Given the description of an element on the screen output the (x, y) to click on. 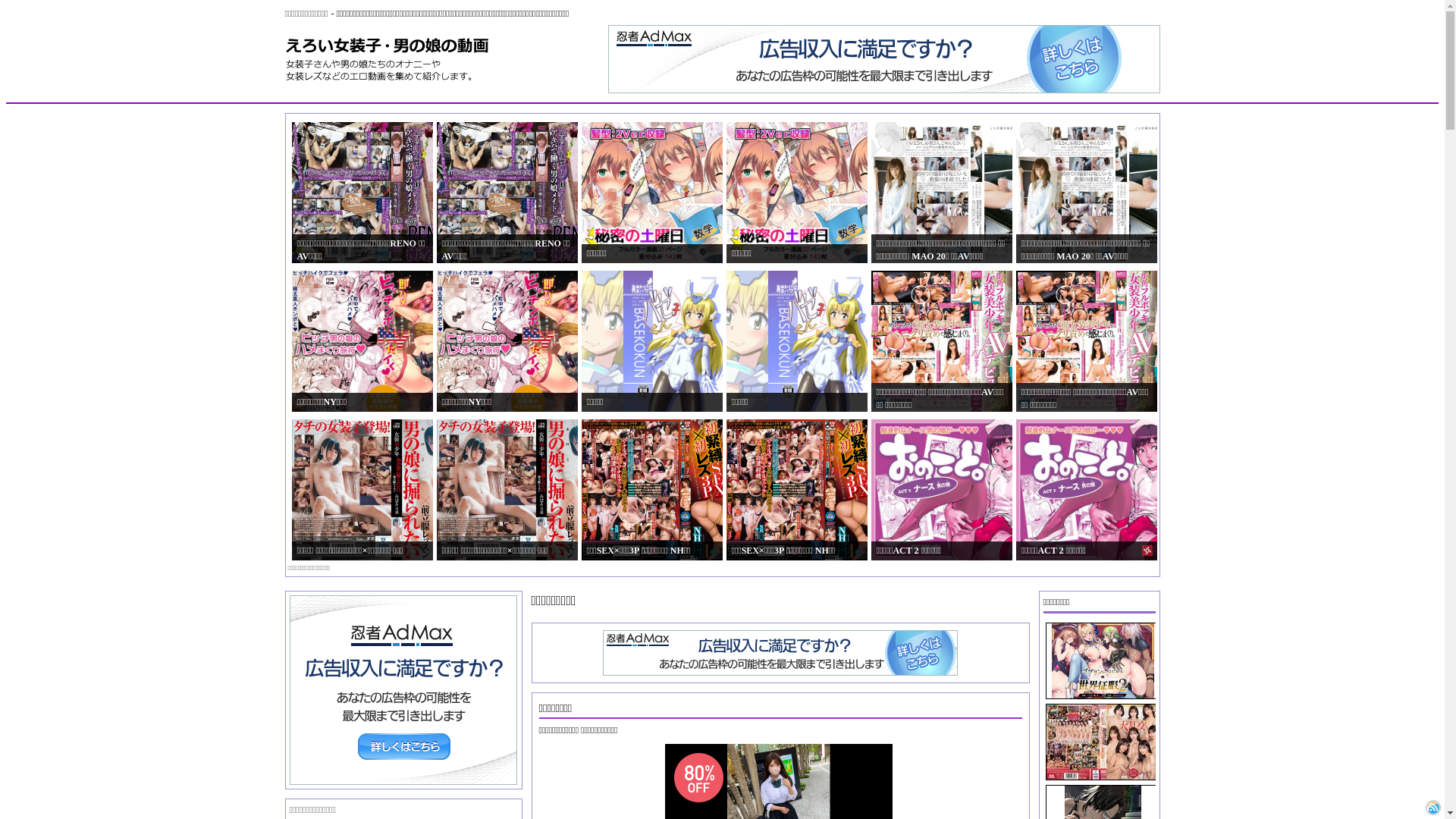
Blozoo Element type: hover (1432, 807)
